Given the description of an element on the screen output the (x, y) to click on. 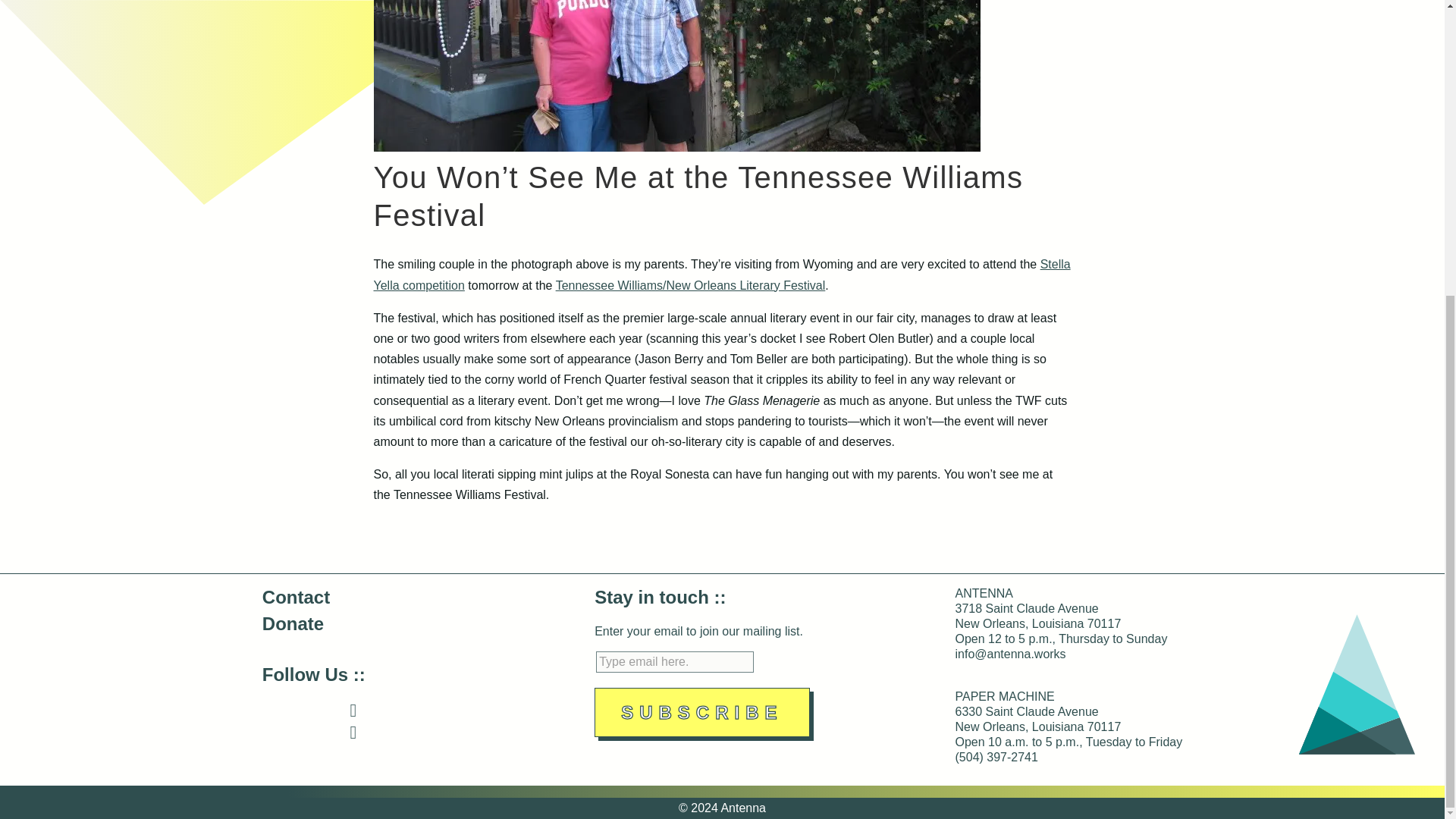
Stella Yella competition (721, 274)
Donate (292, 623)
Contact (296, 597)
Subscribe (701, 712)
Subscribe (701, 712)
